Given the description of an element on the screen output the (x, y) to click on. 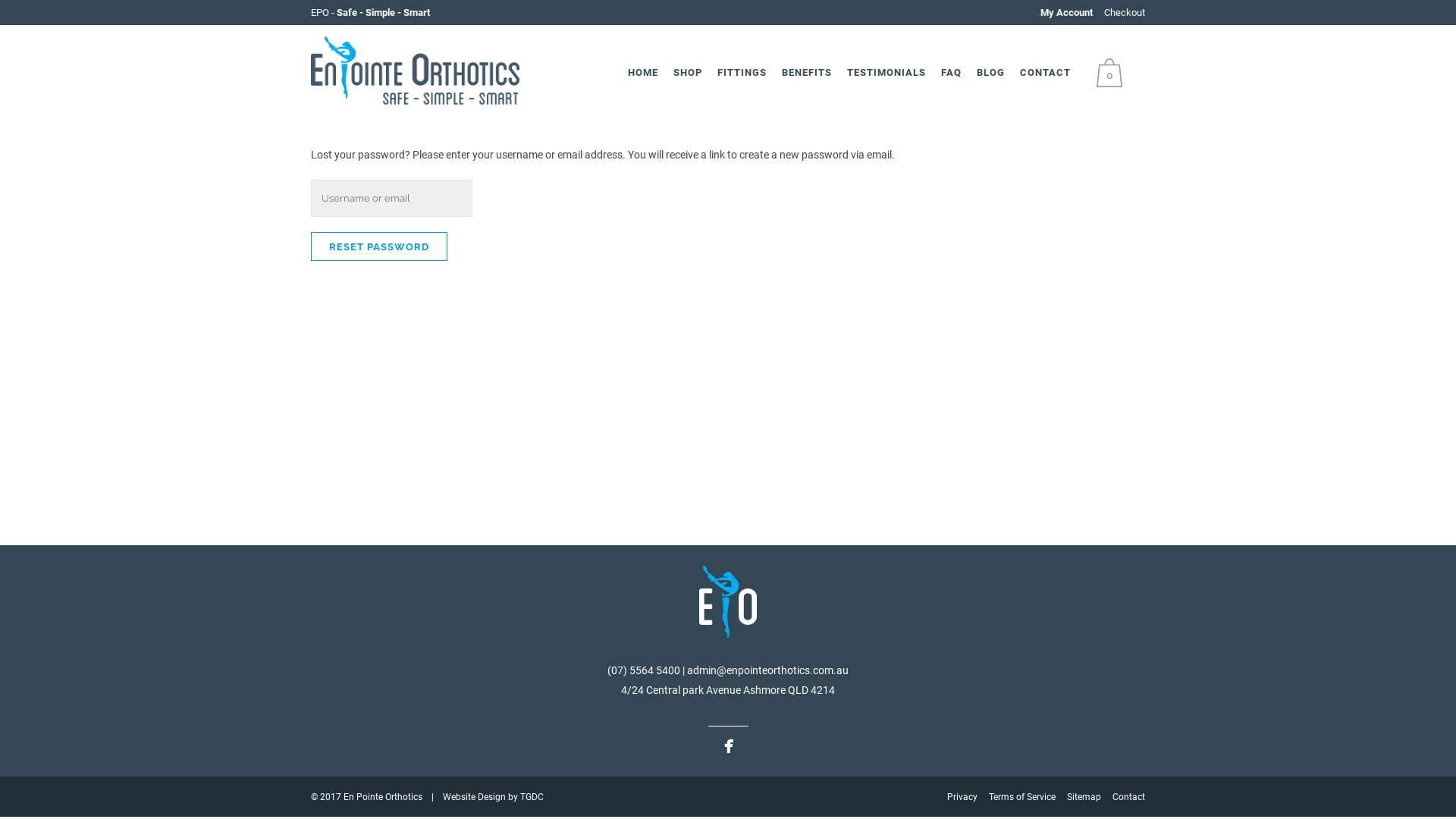
CONTACT Element type: text (1045, 72)
Contact Element type: text (1128, 796)
BENEFITS Element type: text (806, 72)
Terms of Service Element type: text (1022, 796)
Checkout Element type: text (1124, 12)
Privacy Element type: text (963, 796)
TGDC Element type: text (531, 796)
Reset Password Element type: text (378, 246)
FITTINGS Element type: text (741, 72)
TESTIMONIALS Element type: text (886, 72)
HOME Element type: text (642, 72)
FAQ Element type: text (951, 72)
BLOG Element type: text (990, 72)
SHOP Element type: text (687, 72)
0 Element type: text (1112, 71)
Sitemap Element type: text (1084, 796)
My Account Element type: text (1067, 12)
